Given the description of an element on the screen output the (x, y) to click on. 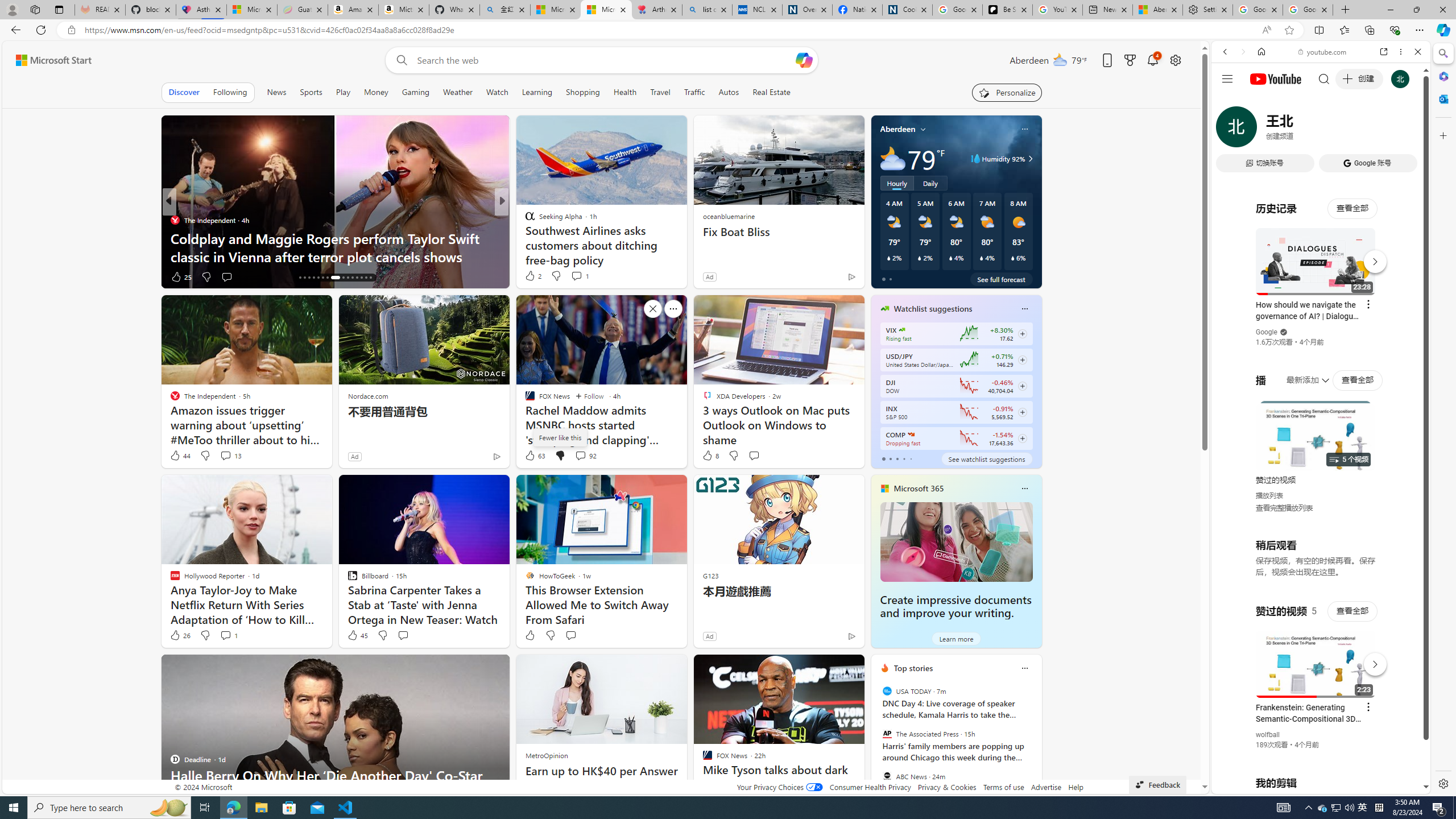
Autos (729, 92)
This story is trending (829, 279)
Create impressive documents and improve your writing. (955, 606)
SEARCH TOOLS (1350, 130)
63 Like (534, 455)
51 Like (530, 276)
Open link in new tab (1383, 51)
SB Nation (524, 219)
